Given the description of an element on the screen output the (x, y) to click on. 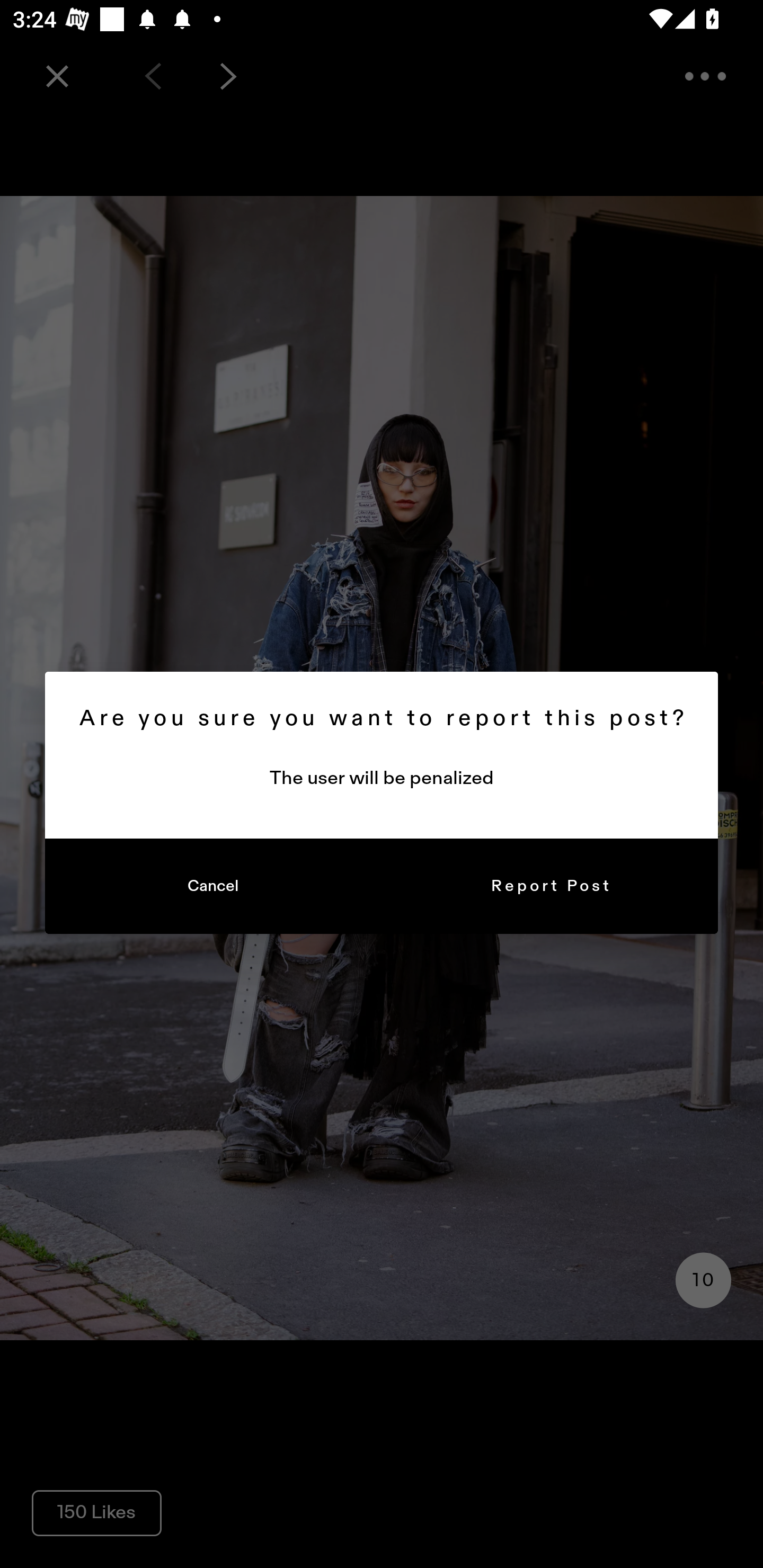
Cancel (213, 886)
Report Post (549, 886)
